Given the description of an element on the screen output the (x, y) to click on. 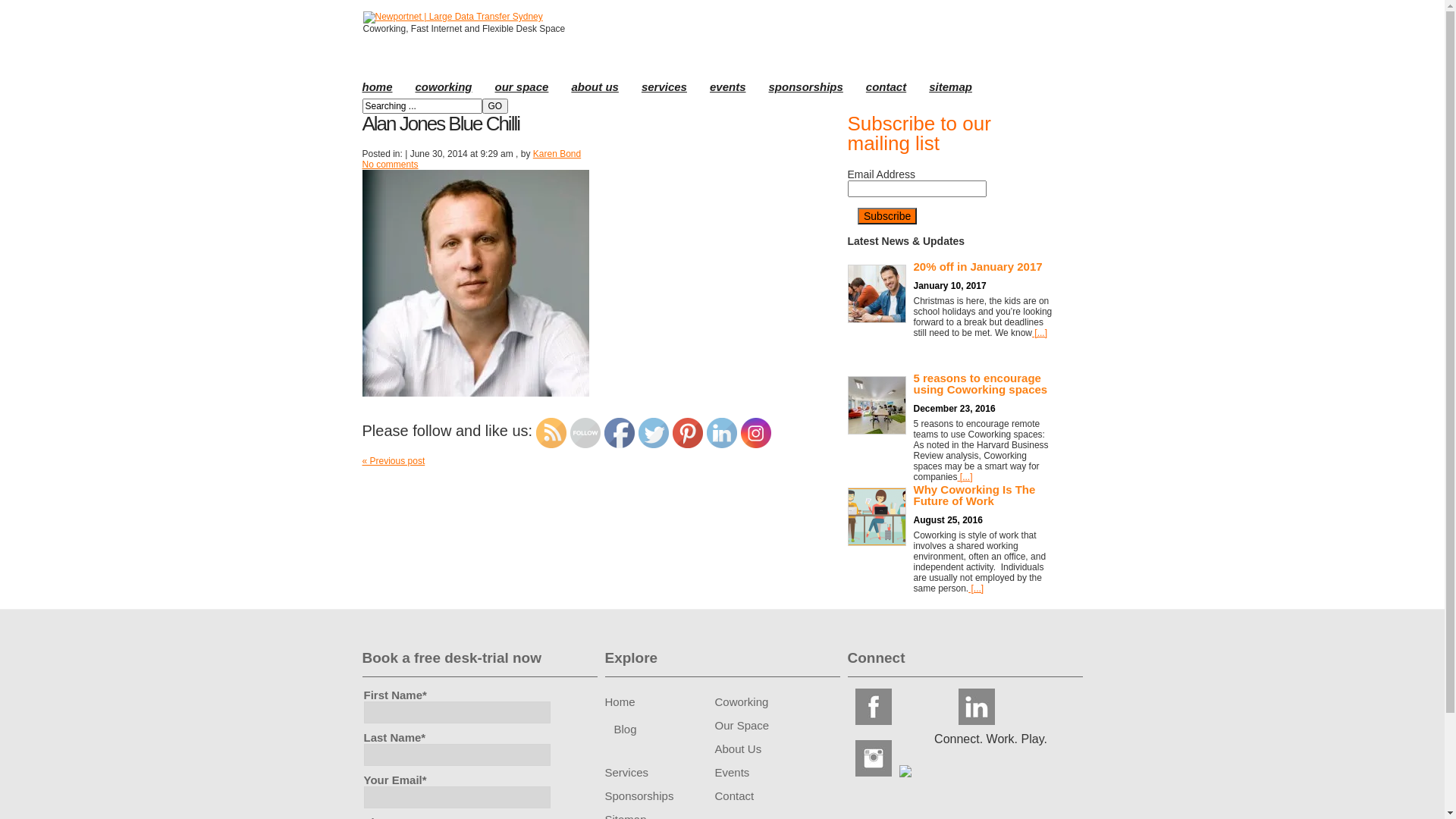
Coworking Element type: text (741, 700)
services Element type: text (664, 89)
20% off in January 2017 Element type: hover (875, 270)
About Us Element type: text (737, 747)
sponsorships Element type: text (805, 89)
[...] Element type: text (975, 588)
5 reasons to encourage using Coworking spaces Element type: text (949, 383)
LinkedIn Element type: hover (721, 432)
events Element type: text (727, 89)
Subscribe Element type: text (886, 215)
Sponsorships Element type: text (639, 794)
Coworking, Fast Internet and Flexible Desk Space Element type: hover (452, 17)
coworking Element type: text (443, 89)
Home Element type: text (620, 700)
Events Element type: text (731, 771)
Pinterest Element type: hover (687, 432)
sitemap Element type: text (950, 89)
Services Element type: text (627, 771)
Facebook Element type: hover (619, 432)
about us Element type: text (594, 89)
Blog Element type: text (625, 727)
[...] Element type: text (964, 476)
20% off in January 2017 Element type: text (949, 266)
Instagram Element type: hover (755, 432)
Twitter Element type: hover (653, 432)
contact Element type: text (886, 89)
home Element type: text (377, 89)
Why Coworking Is The Future of Work Element type: hover (875, 493)
GO Element type: text (495, 105)
Karen Bond Element type: text (556, 153)
5 reasons to encourage using Coworking spaces Element type: hover (875, 381)
our space Element type: text (522, 89)
Contact Element type: text (733, 794)
Why Coworking Is The Future of Work Element type: text (949, 494)
Follow by Email Element type: hover (585, 432)
[...] Element type: text (1039, 332)
Our Space Element type: text (741, 724)
No comments Element type: text (390, 164)
RSS Element type: hover (551, 432)
